Given the description of an element on the screen output the (x, y) to click on. 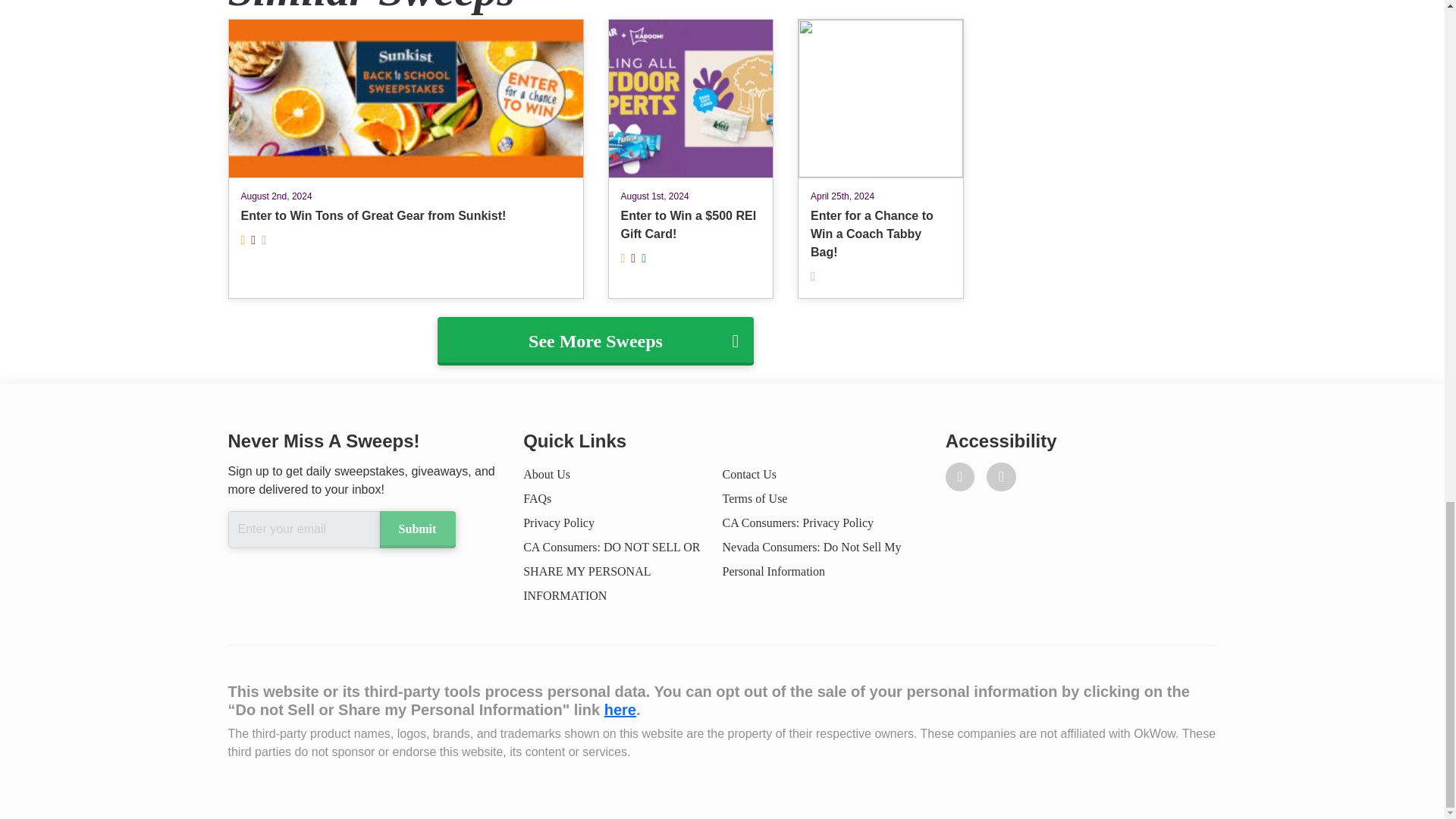
Privacy Policy (558, 522)
Terms of Use (754, 498)
See More Sweeps (596, 340)
Submit (416, 529)
CA Consumers: Privacy Policy (797, 522)
FAQs (536, 498)
CA Consumers: DO NOT SELL OR SHARE MY PERSONAL INFORMATION (611, 570)
About Us (546, 473)
Nevada Consumers: Do Not Sell My Personal Information (811, 559)
Contact Us (749, 473)
